Given the description of an element on the screen output the (x, y) to click on. 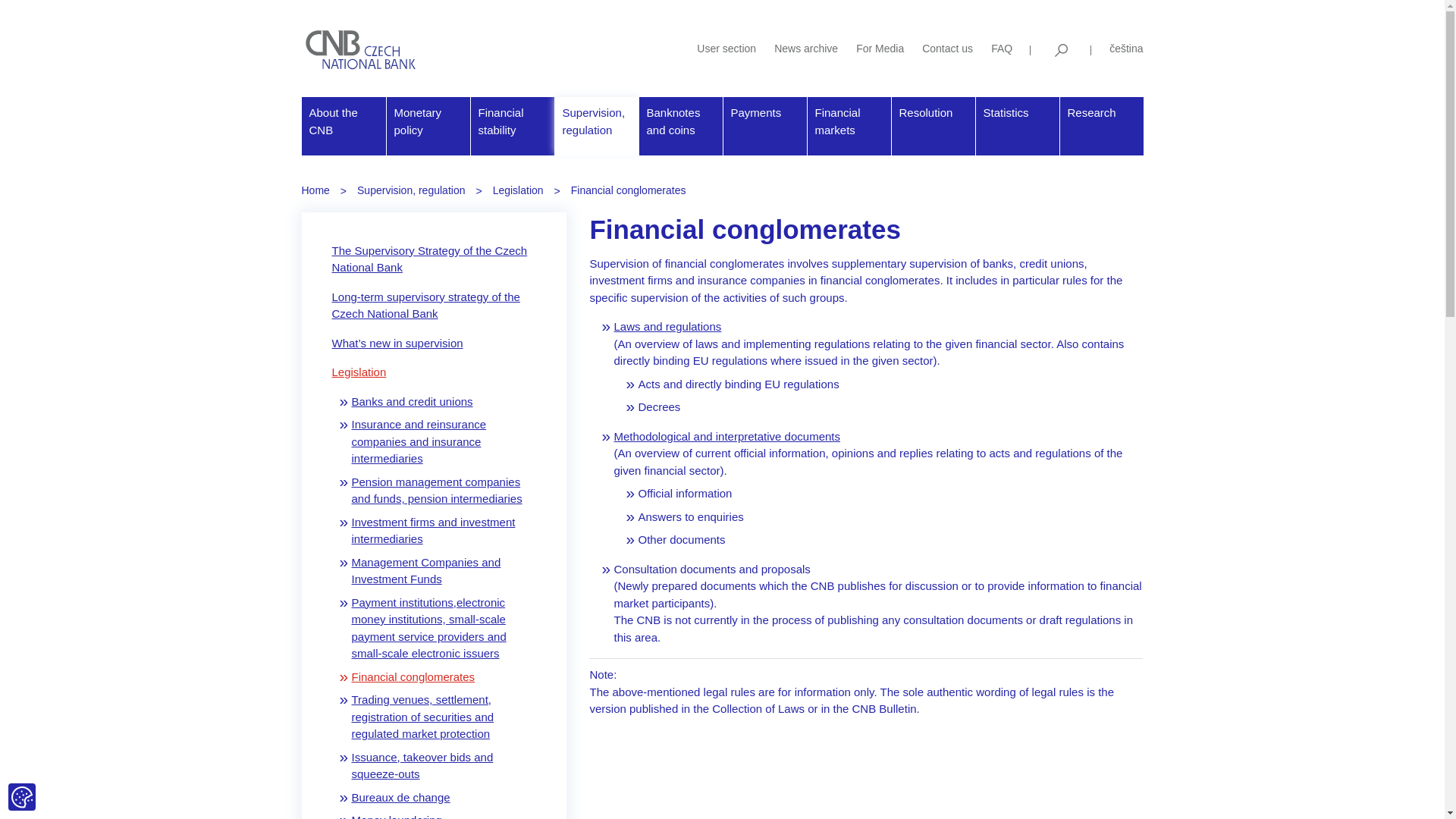
User section (726, 48)
Financial stability (511, 126)
About the CNB (343, 126)
Czech National Bank (362, 48)
Contact us (946, 48)
FAQ (1001, 48)
Search (1060, 50)
Search (1060, 50)
For Media (880, 48)
Monetary policy (428, 126)
News archive (806, 48)
